Given the description of an element on the screen output the (x, y) to click on. 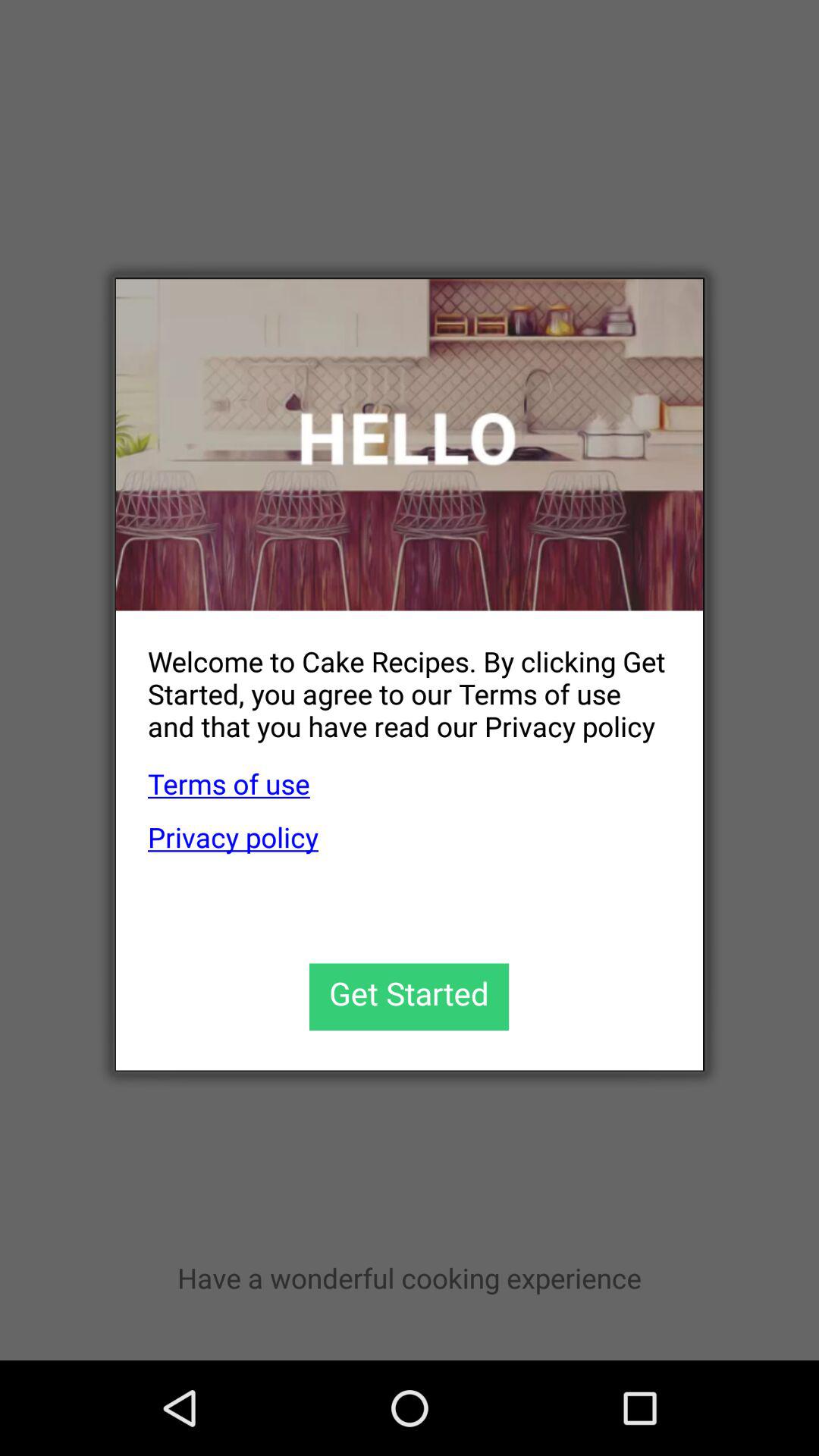
jump until the welcome to cake (393, 681)
